Given the description of an element on the screen output the (x, y) to click on. 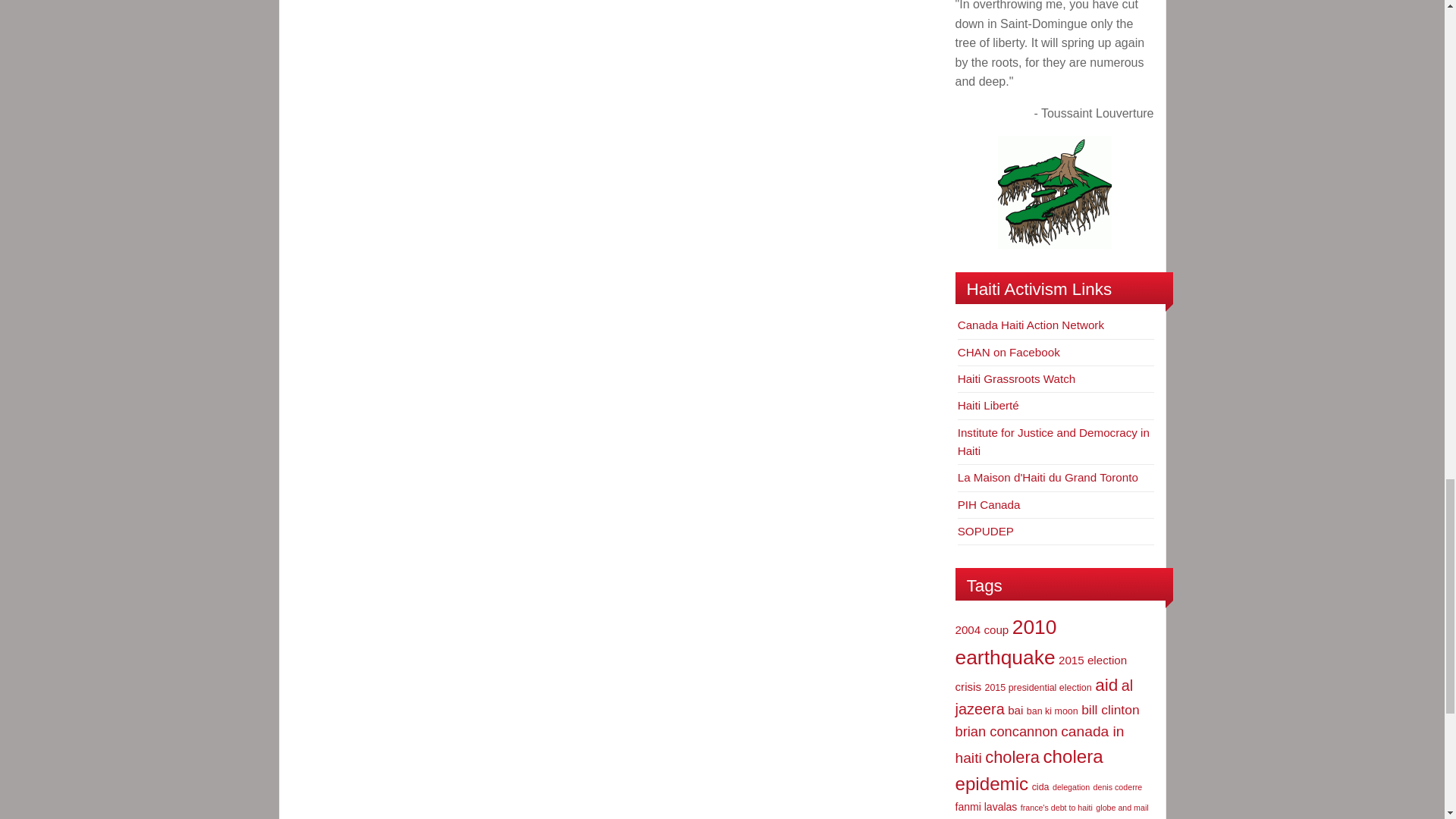
Canada Haiti Action Network (1030, 324)
An outstanding independant news source for Haiti (988, 404)
Toussaint Louverture quotation (1054, 192)
The Canada Haiti Action Network also has a Facebook Account (1008, 351)
SOPUDEP (985, 530)
PIH Canada (989, 504)
La Maison d'Haiti du Grand Toronto (1048, 477)
2004 coup (982, 629)
Haiti Grassroots Watch (1016, 378)
Institute for Justice and Democracy in Haiti (1054, 441)
CHAN on Facebook (1008, 351)
